Given the description of an element on the screen output the (x, y) to click on. 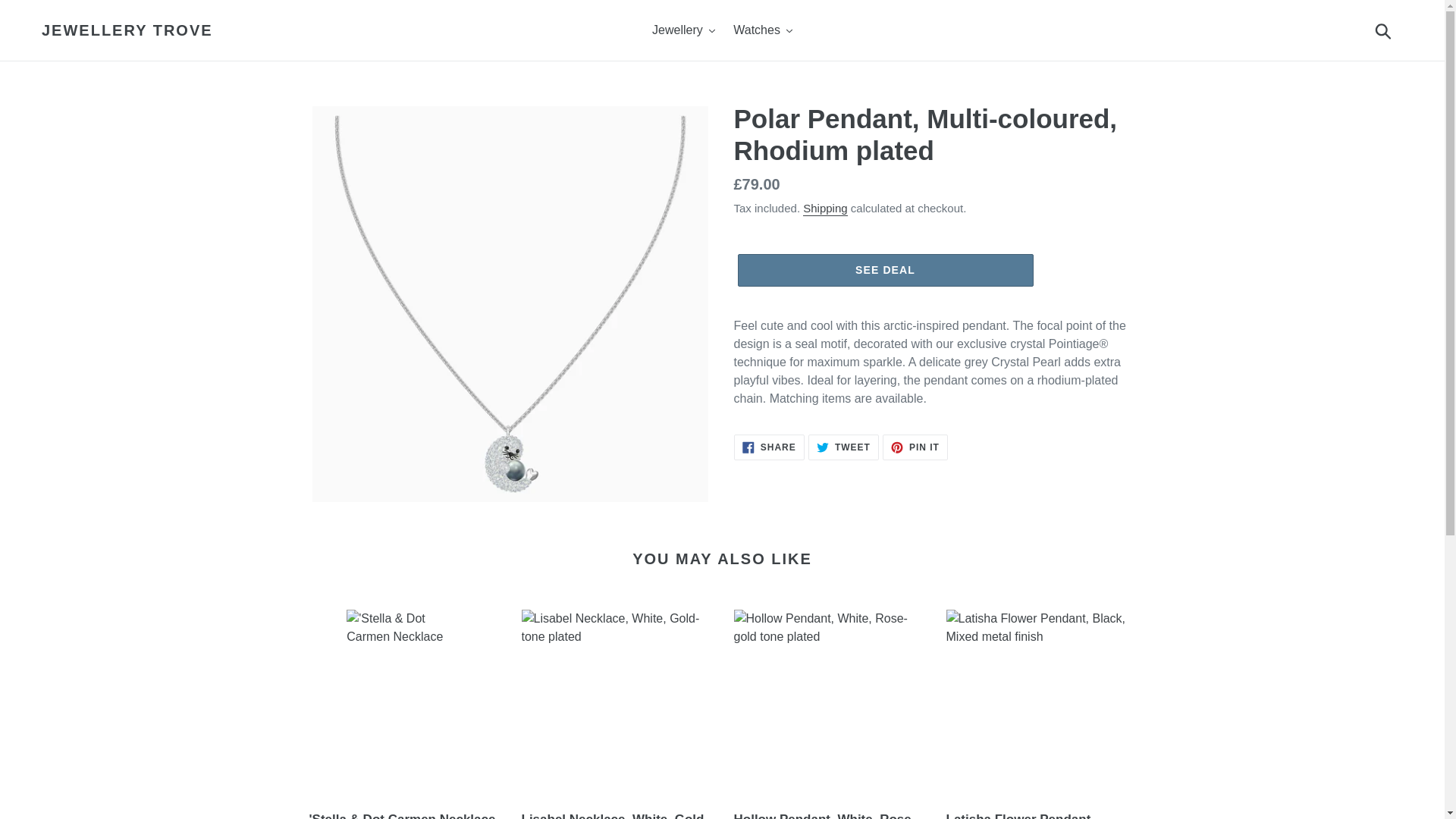
Submit (1384, 29)
JEWELLERY TROVE (127, 30)
